Given the description of an element on the screen output the (x, y) to click on. 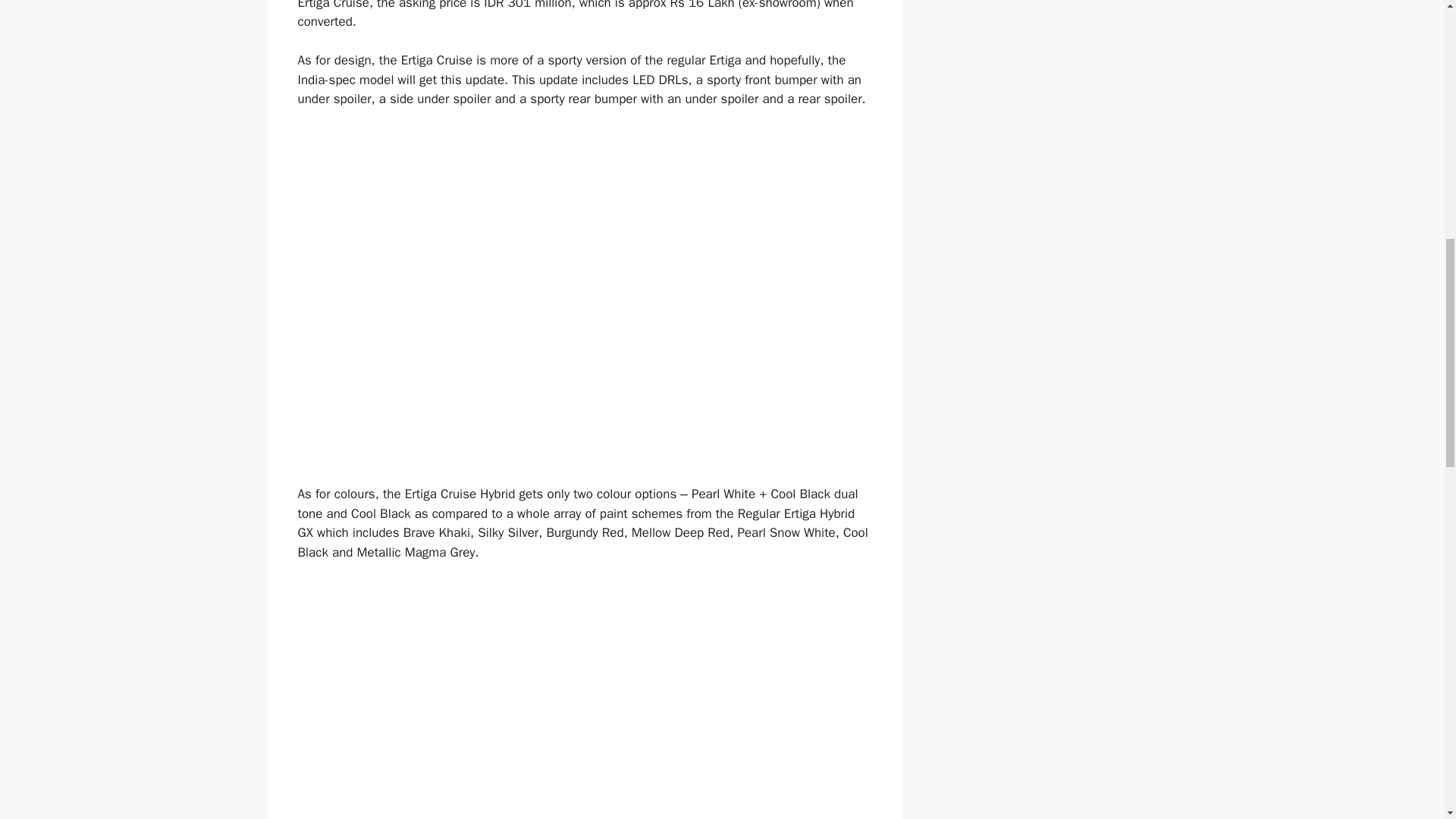
Scroll back to top (1406, 720)
